Given the description of an element on the screen output the (x, y) to click on. 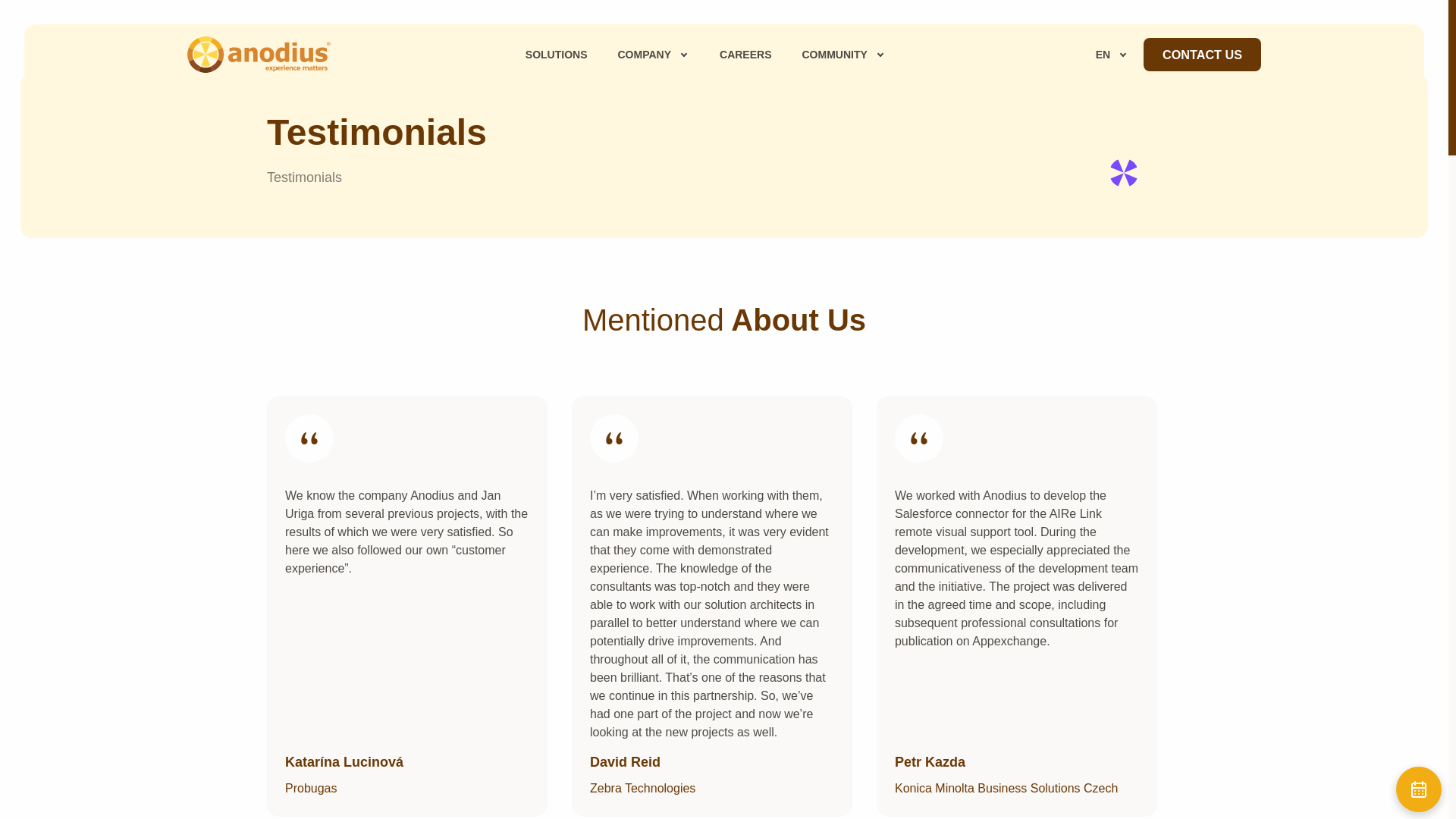
EN (1107, 54)
SOLUTIONS (556, 54)
CONTACT US (1201, 54)
COMMUNITY (842, 54)
COMPANY (653, 54)
CAREERS (745, 54)
